Given the description of an element on the screen output the (x, y) to click on. 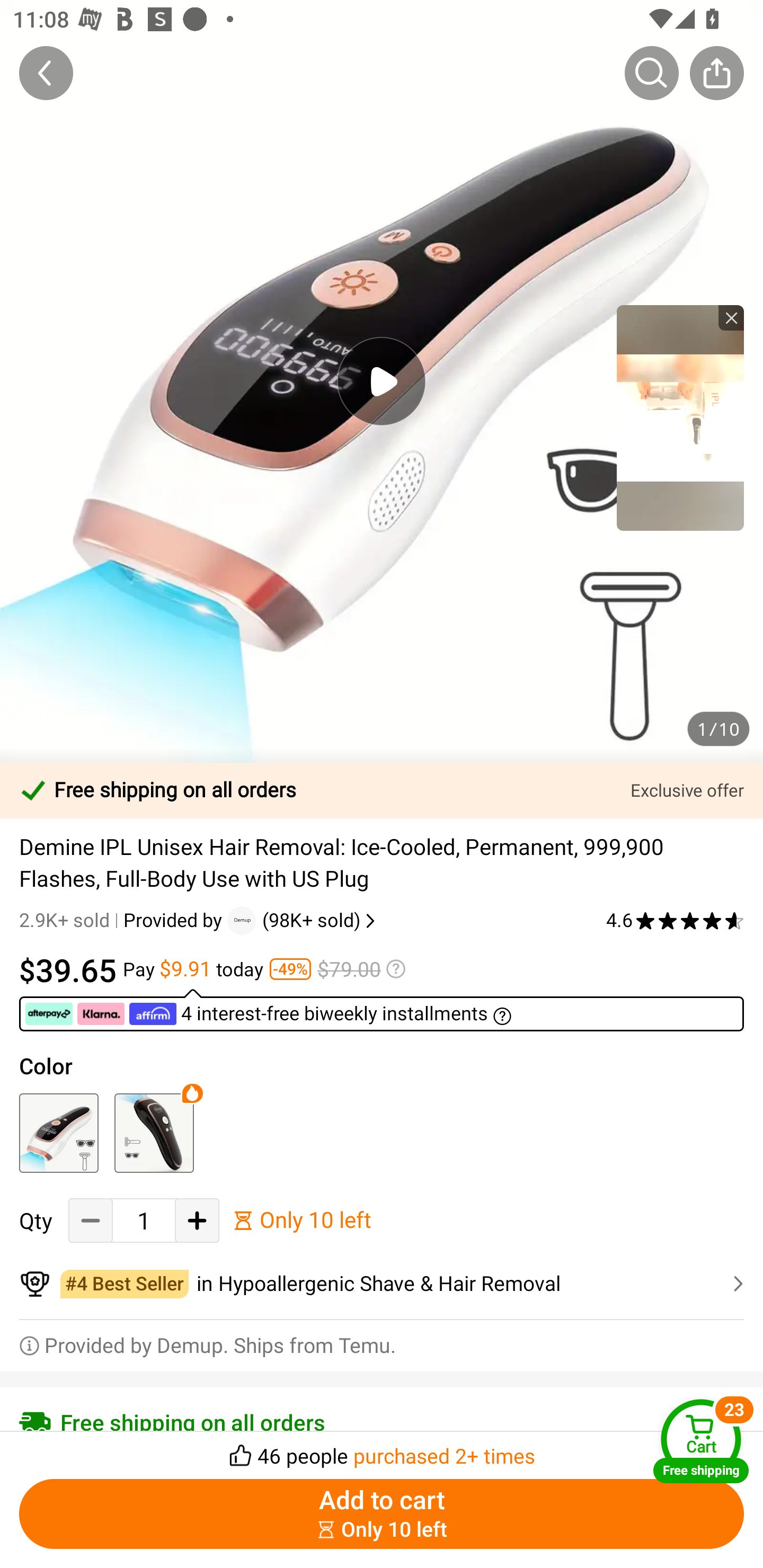
Back (46, 72)
Share (716, 72)
tronplayer_view (680, 417)
Free shipping on all orders Exclusive offer (381, 790)
2.9K+ sold Provided by  (123, 920)
4.6 (674, 920)
￼ ￼ ￼ 4 interest-free biweekly installments ￼ (381, 1009)
White (58, 1132)
Black   (153, 1132)
Decrease Quantity Button (90, 1220)
1 (143, 1220)
Add Quantity button (196, 1220)
￼￼in Hypoallergenic Shave & Hair Removal (381, 1283)
Cart Free shipping Cart (701, 1440)
￼￼46 people purchased 2+ times (381, 1450)
Add to cart ￼￼Only 10 left (381, 1513)
